Given the description of an element on the screen output the (x, y) to click on. 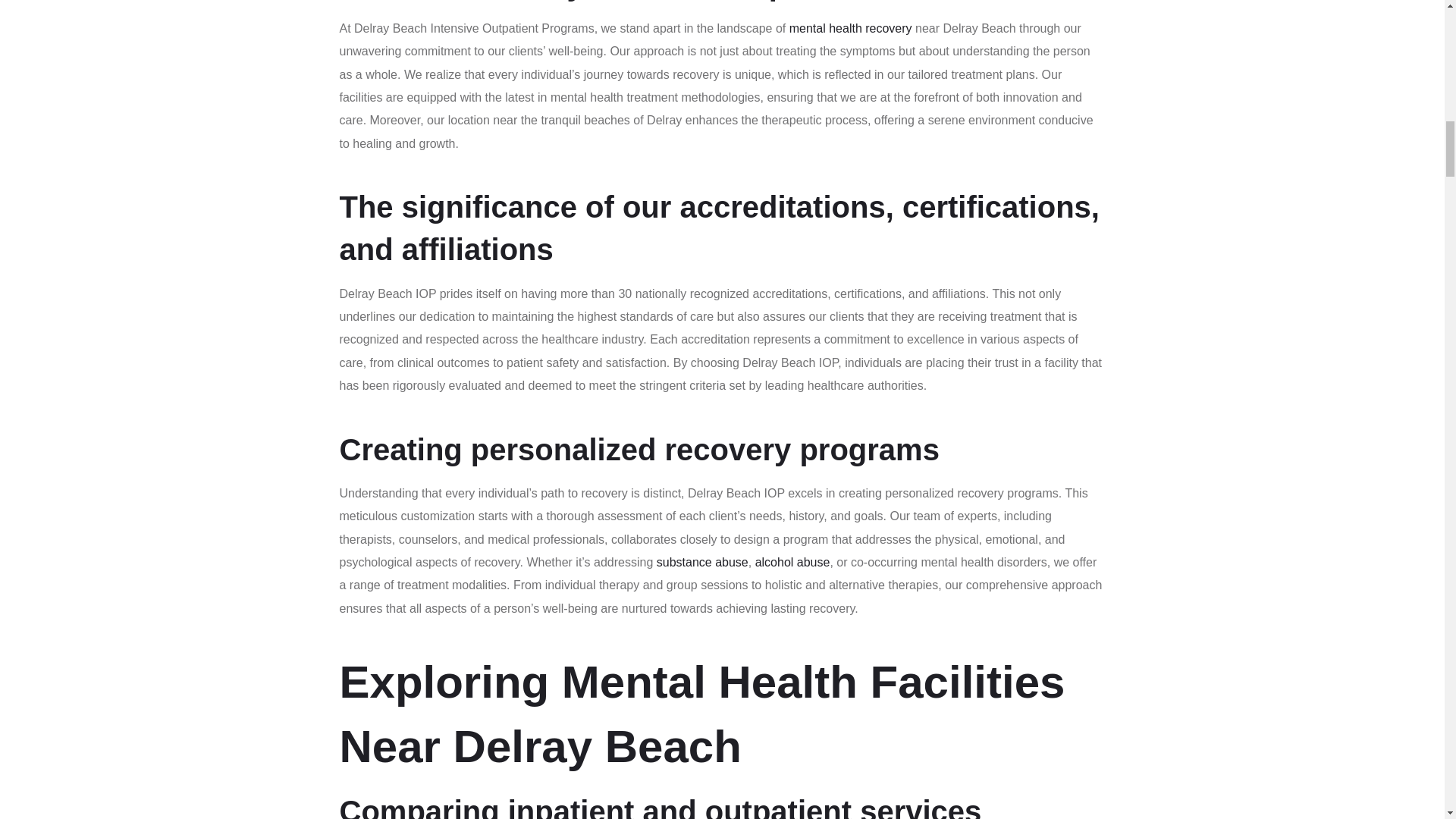
substance abuse (702, 562)
mental health recovery (850, 28)
alcohol abuse (792, 562)
